Given the description of an element on the screen output the (x, y) to click on. 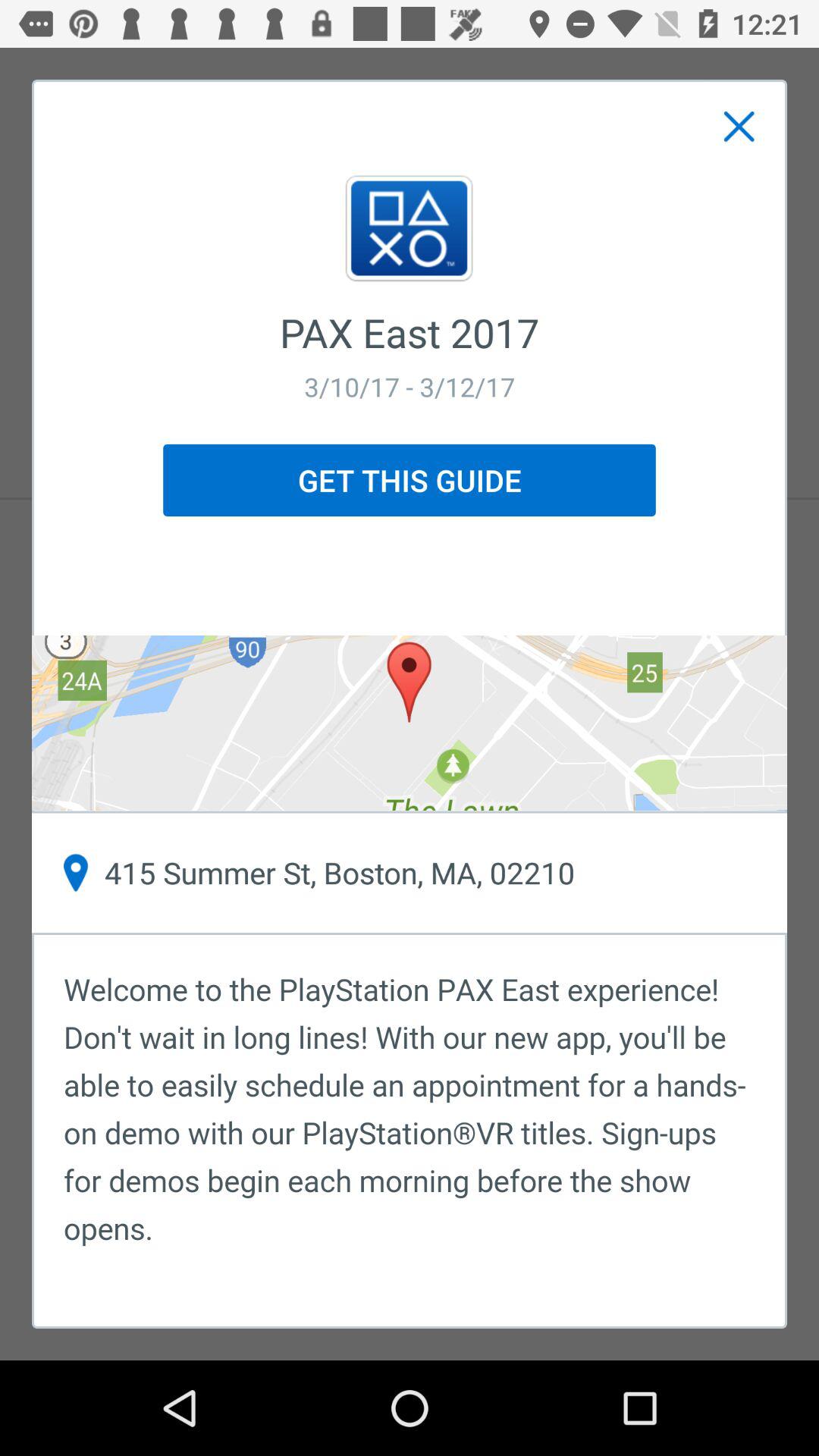
launch get this guide (409, 480)
